Given the description of an element on the screen output the (x, y) to click on. 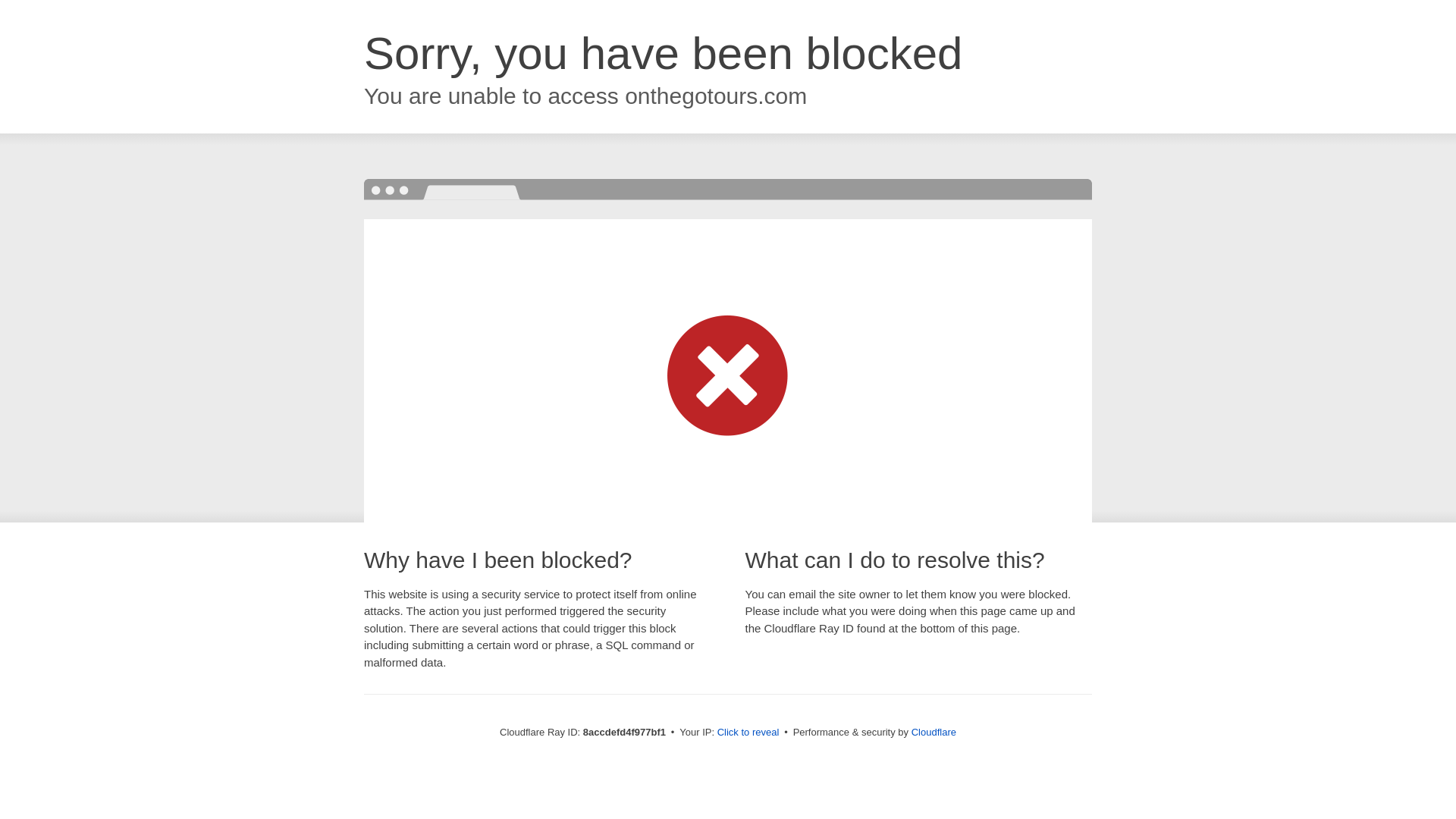
Click to reveal (747, 732)
Cloudflare (933, 731)
